Given the description of an element on the screen output the (x, y) to click on. 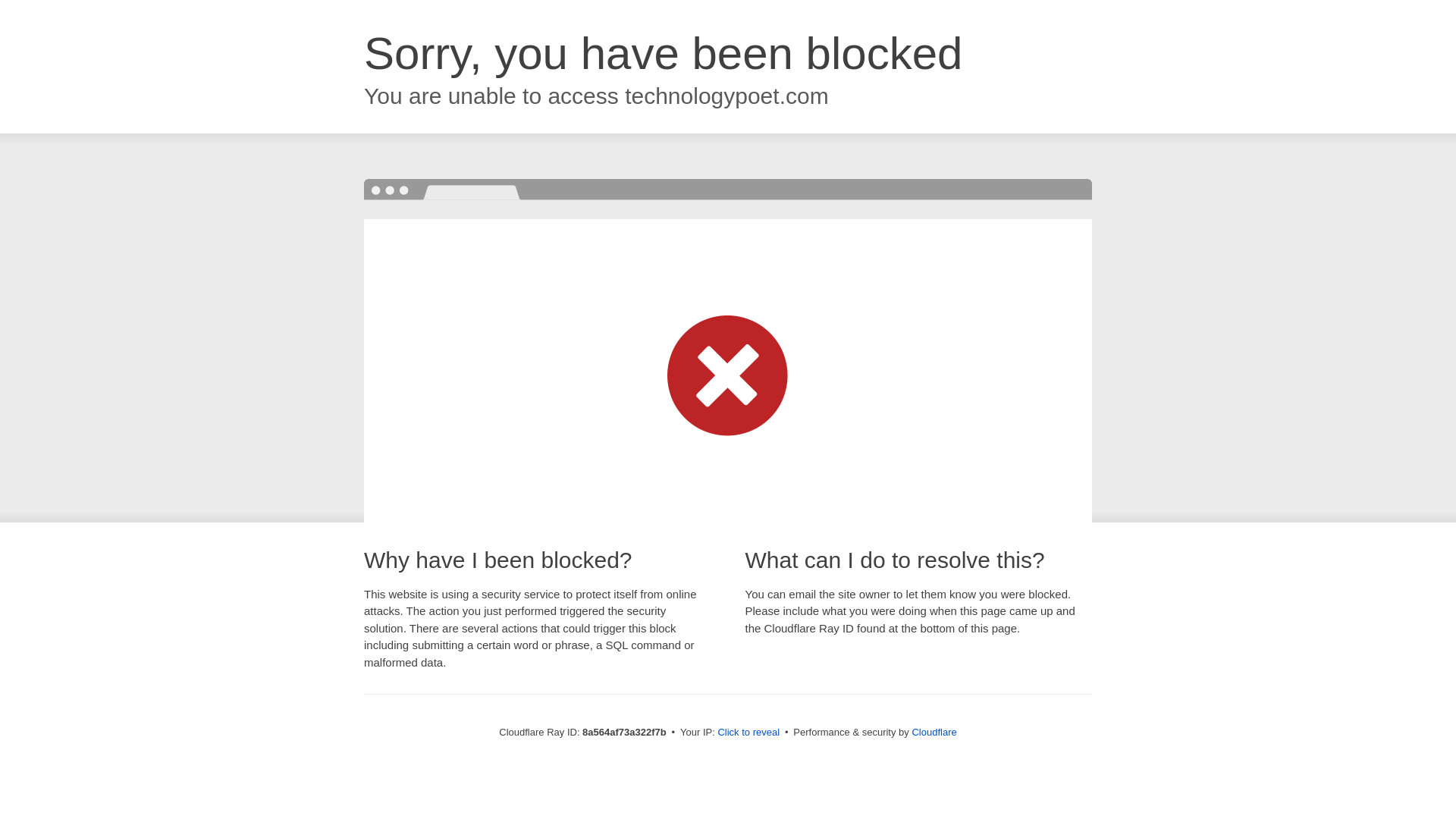
Click to reveal (747, 732)
Cloudflare (933, 731)
